Given the description of an element on the screen output the (x, y) to click on. 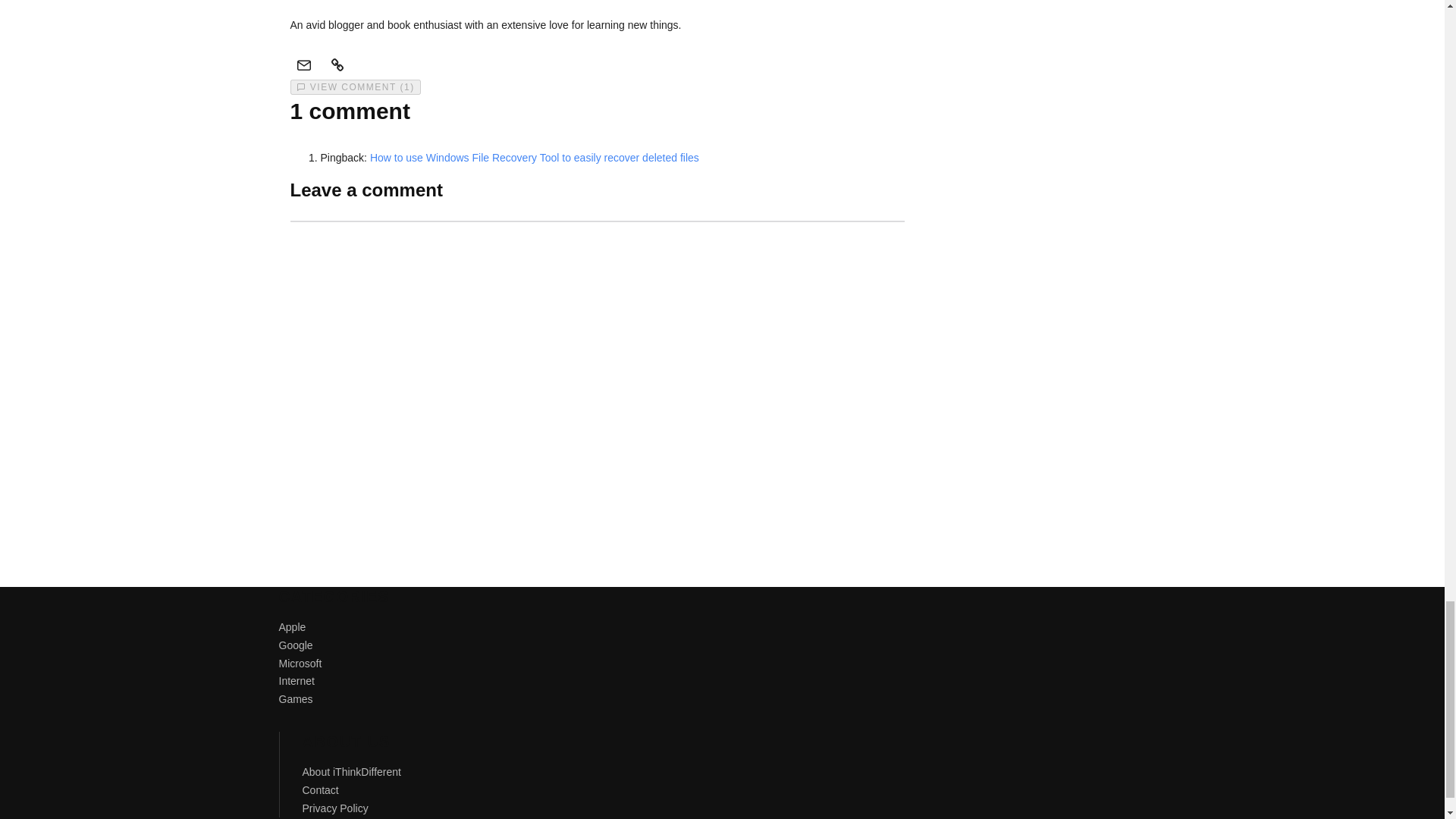
Visit my site (336, 63)
Send me an email! (303, 63)
